Given the description of an element on the screen output the (x, y) to click on. 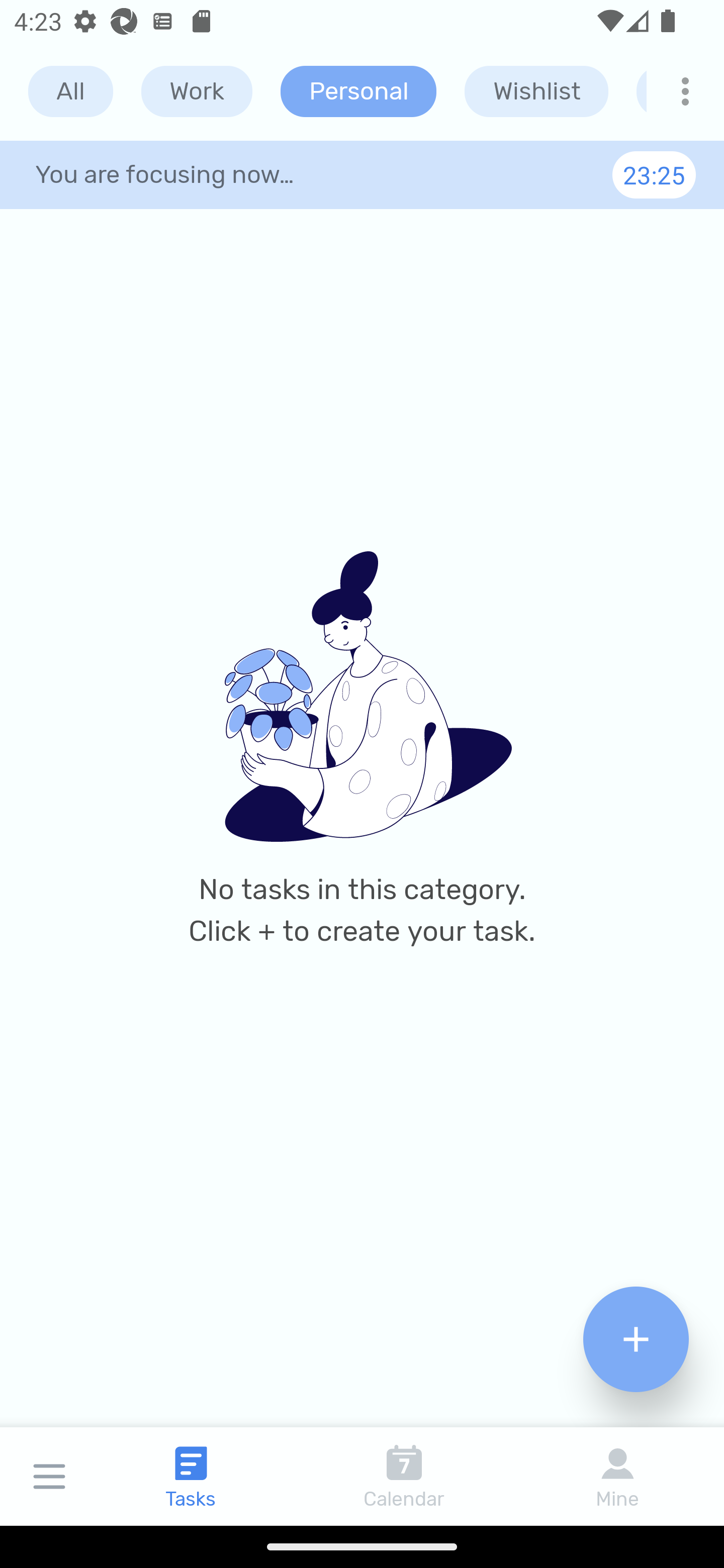
All (70, 91)
Work (196, 91)
Personal (358, 91)
Wishlist (536, 91)
You are focusing now… 23:25 (362, 174)
Tasks (190, 1475)
Calendar (404, 1475)
Mine (617, 1475)
